Given the description of an element on the screen output the (x, y) to click on. 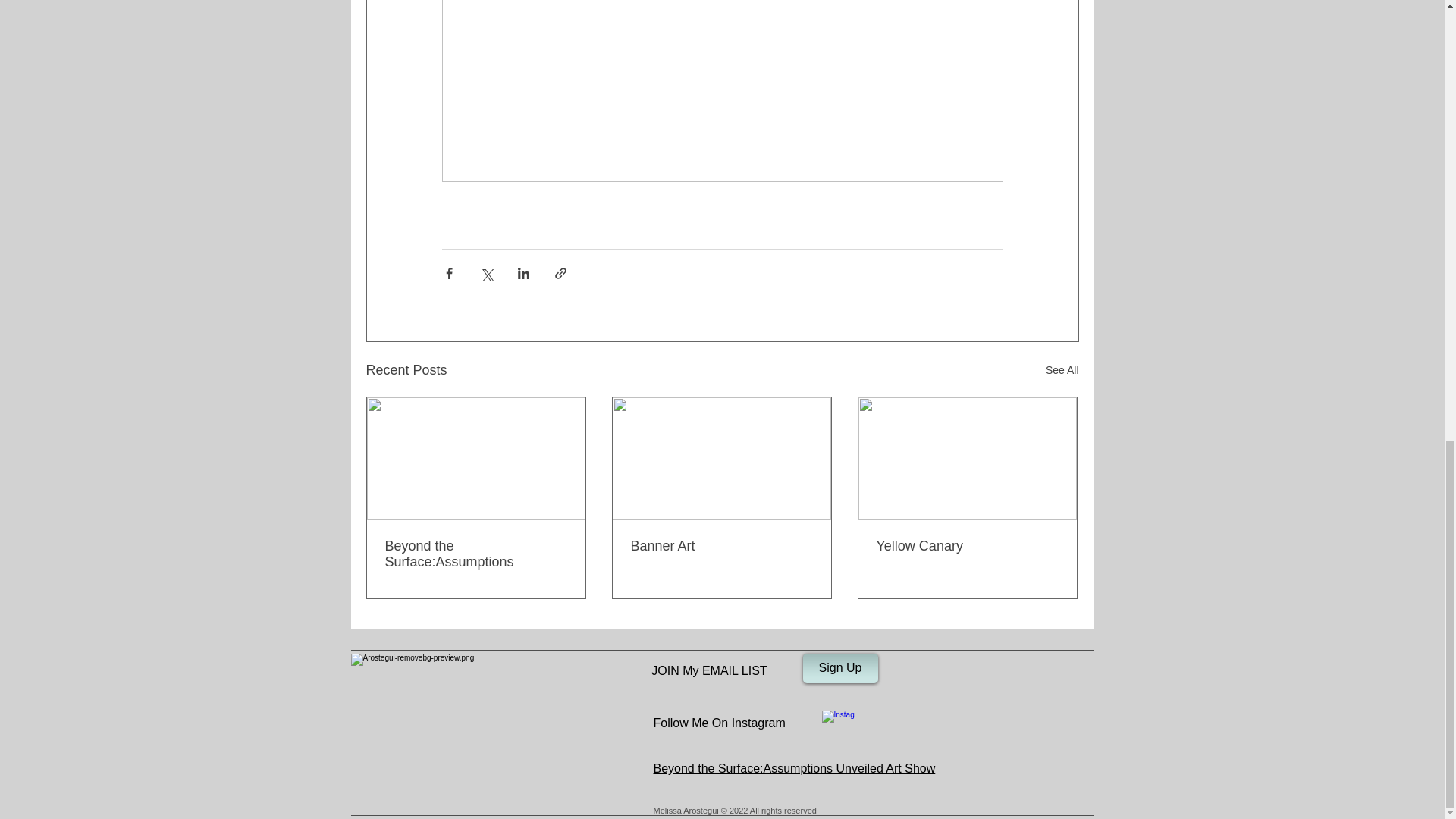
Yellow Canary (967, 546)
See All (1061, 370)
Beyond the Surface:Assumptions (476, 554)
Banner Art (721, 546)
Sign Up (839, 668)
Beyond the Surface:Assumptions Unveiled Art Show (794, 768)
